Given the description of an element on the screen output the (x, y) to click on. 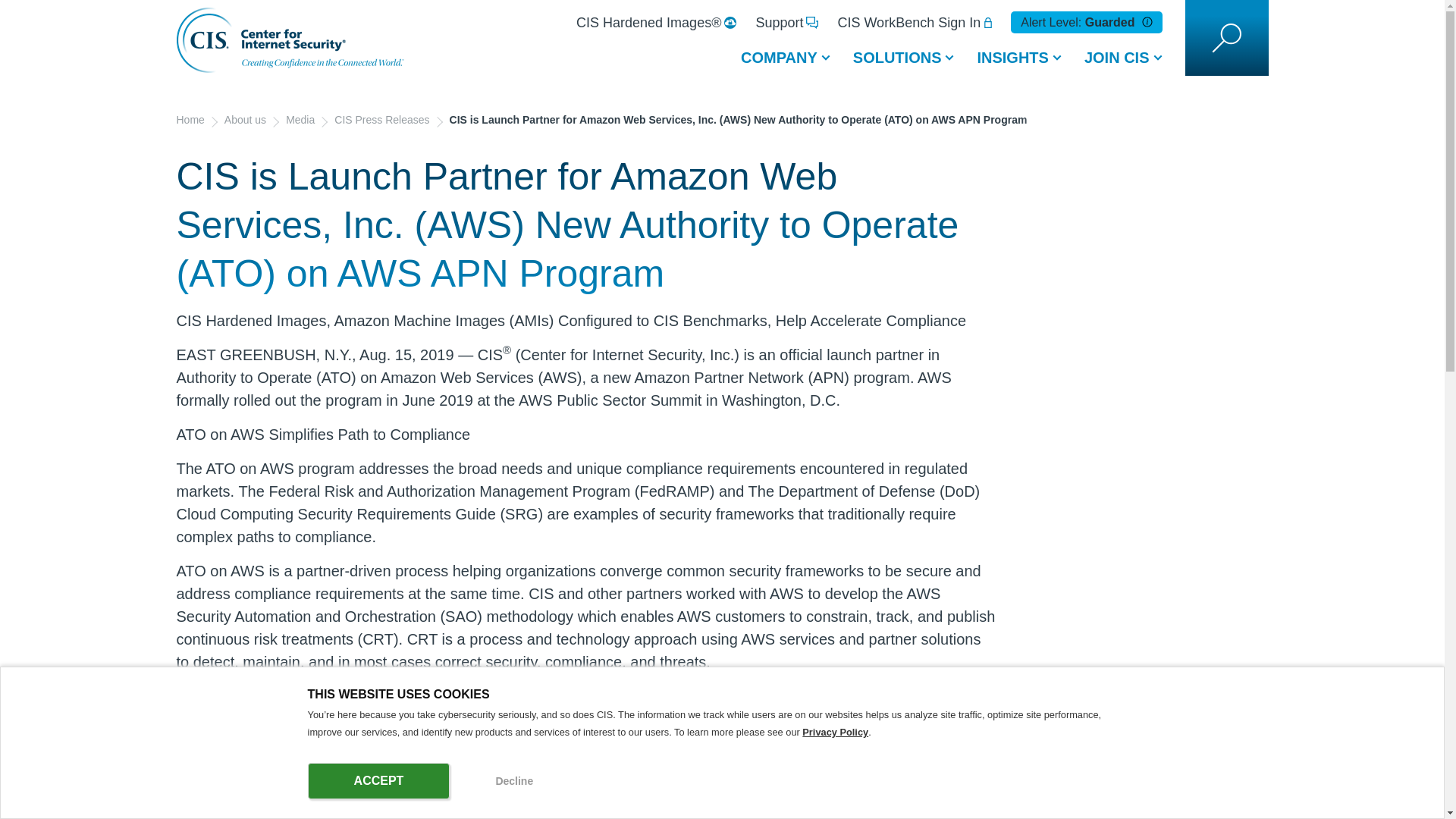
SOLUTIONS (903, 66)
ACCEPT (378, 780)
Privacy Policy (834, 731)
COMPANY (785, 66)
Support (786, 21)
Decline (513, 780)
CIS WorkBench Sign In (914, 21)
